Given the description of an element on the screen output the (x, y) to click on. 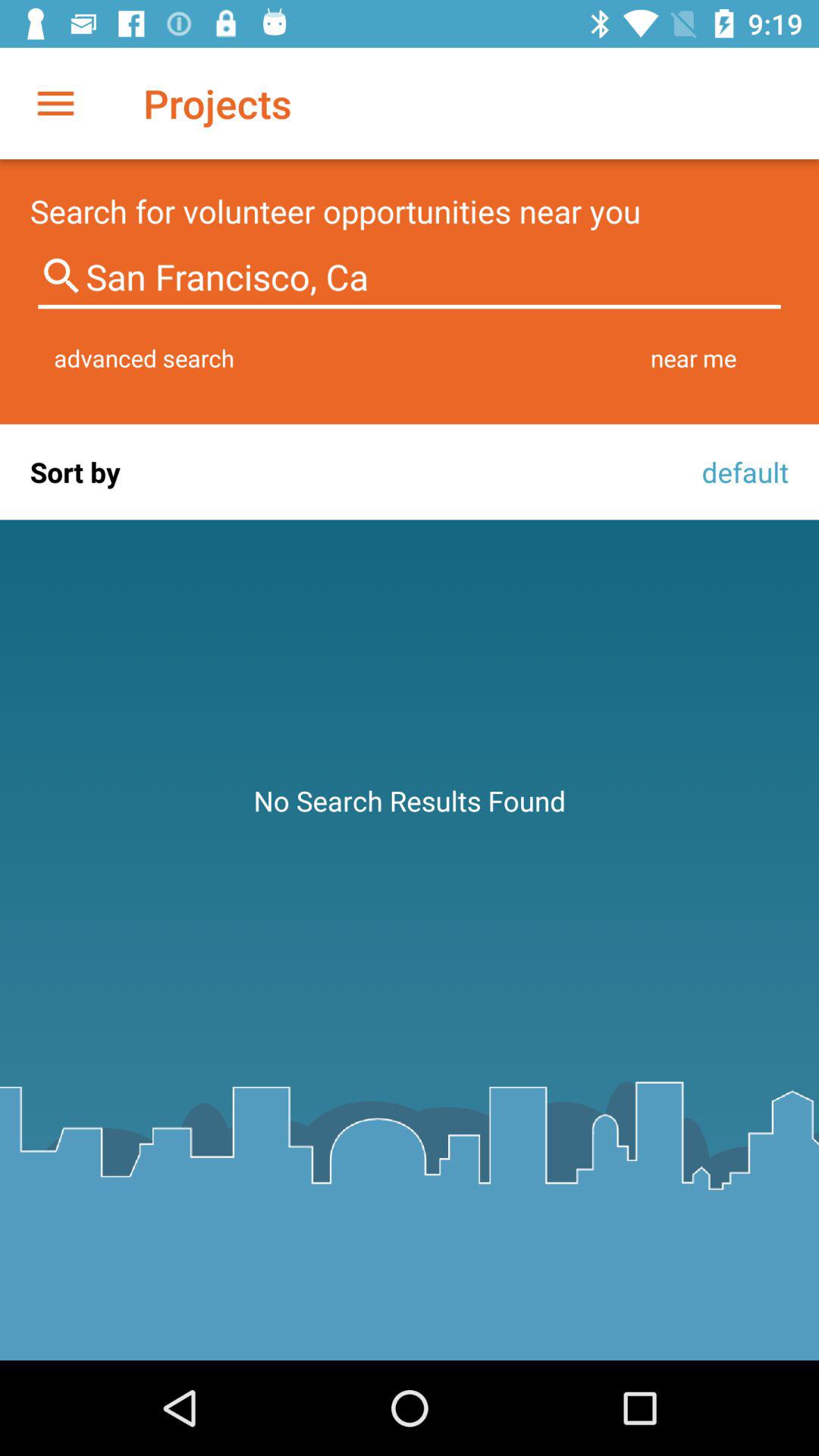
choose the icon next to the sort by (740, 471)
